Given the description of an element on the screen output the (x, y) to click on. 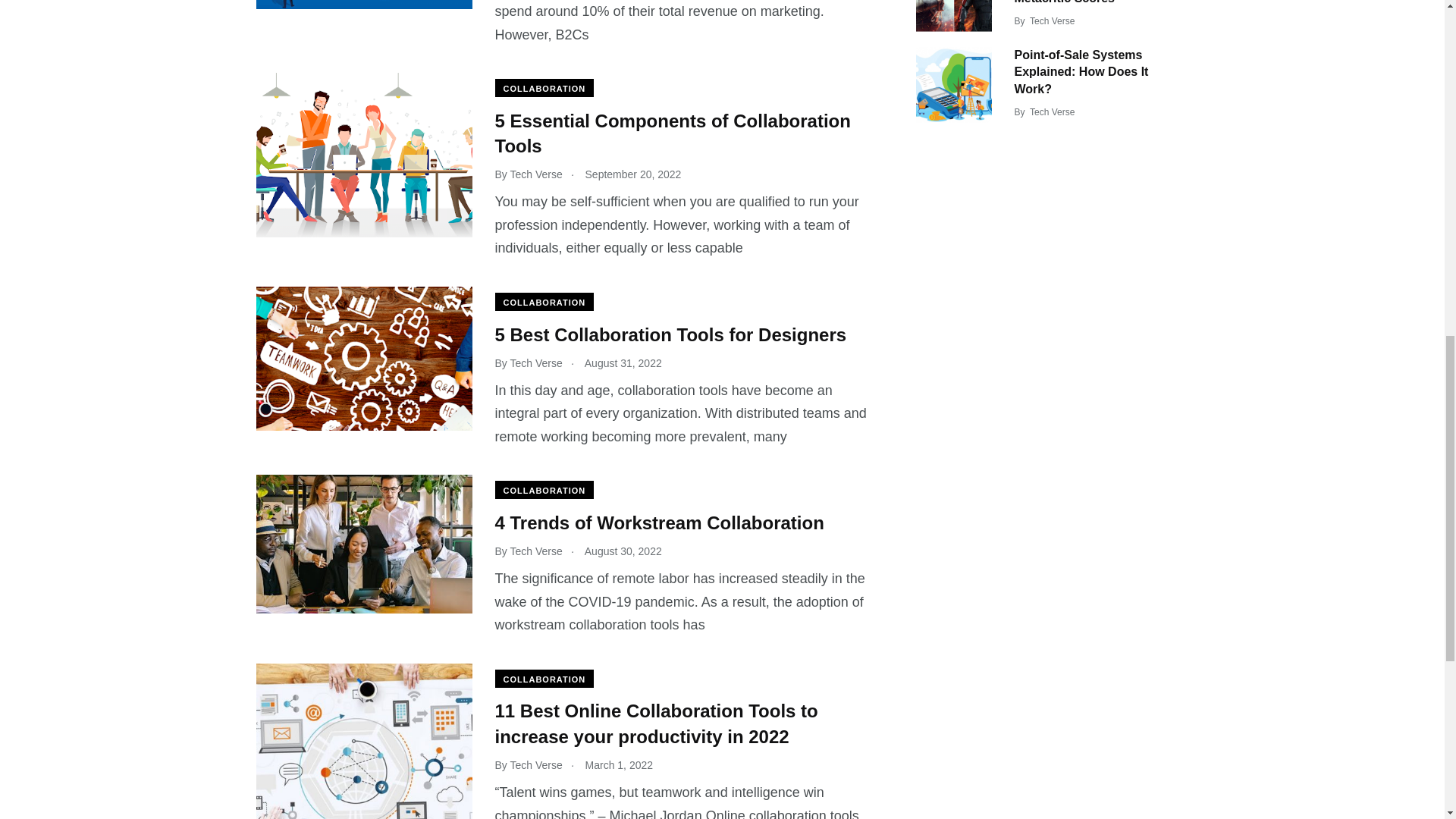
Posts by Tech Verse (1051, 20)
Posts by Tech Verse (1051, 112)
